Given the description of an element on the screen output the (x, y) to click on. 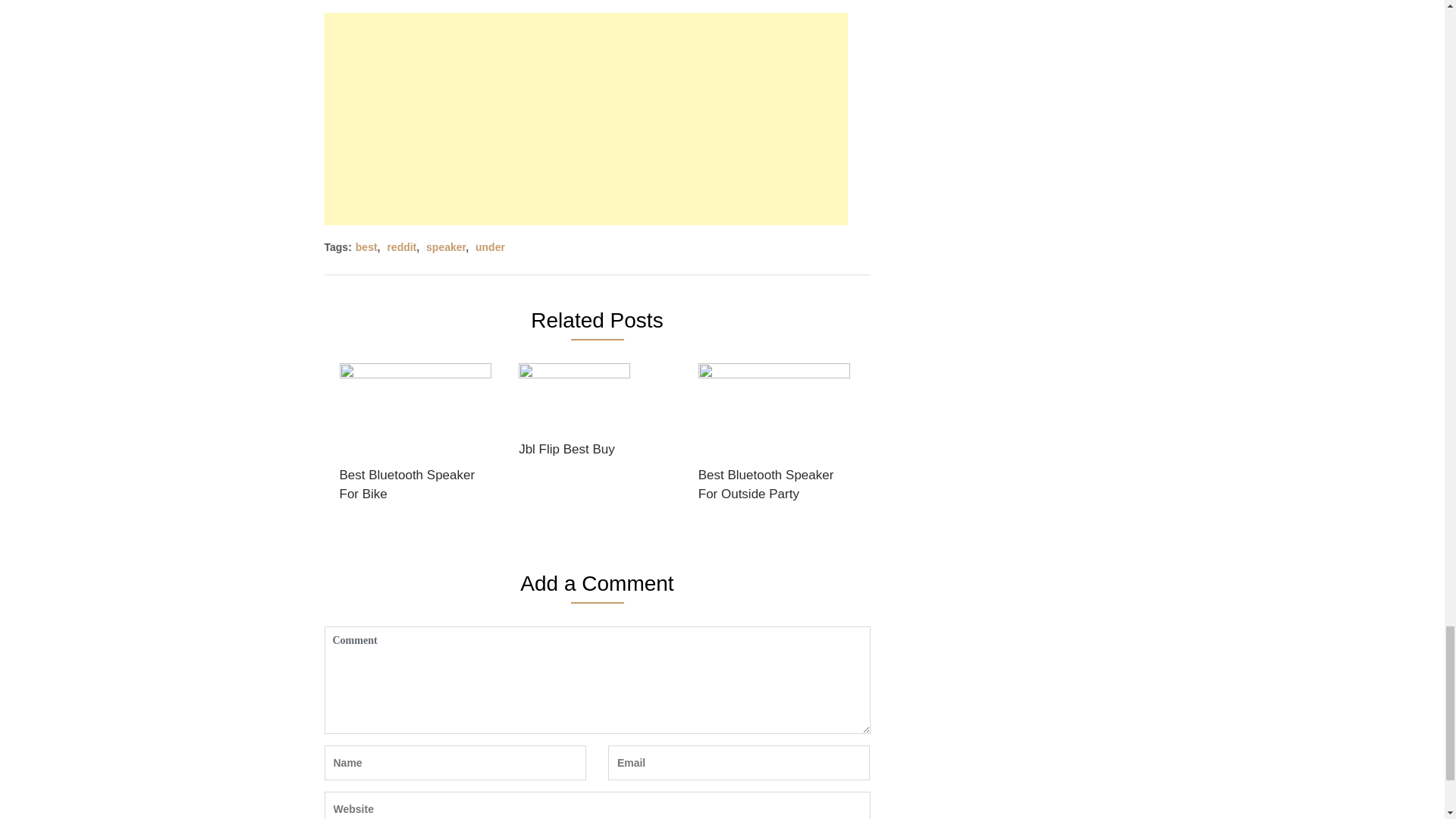
Jbl Flip Best Buy (574, 414)
speaker (445, 246)
Best Bluetooth Speaker For Bike (415, 437)
under (490, 246)
Best Bluetooth Speaker For Outside Party (774, 437)
Best Bluetooth Speaker For Outside Party (774, 437)
Jbl Flip Best Buy (574, 414)
Best Bluetooth Speaker For Bike (415, 437)
reddit (401, 246)
best (366, 246)
